Given the description of an element on the screen output the (x, y) to click on. 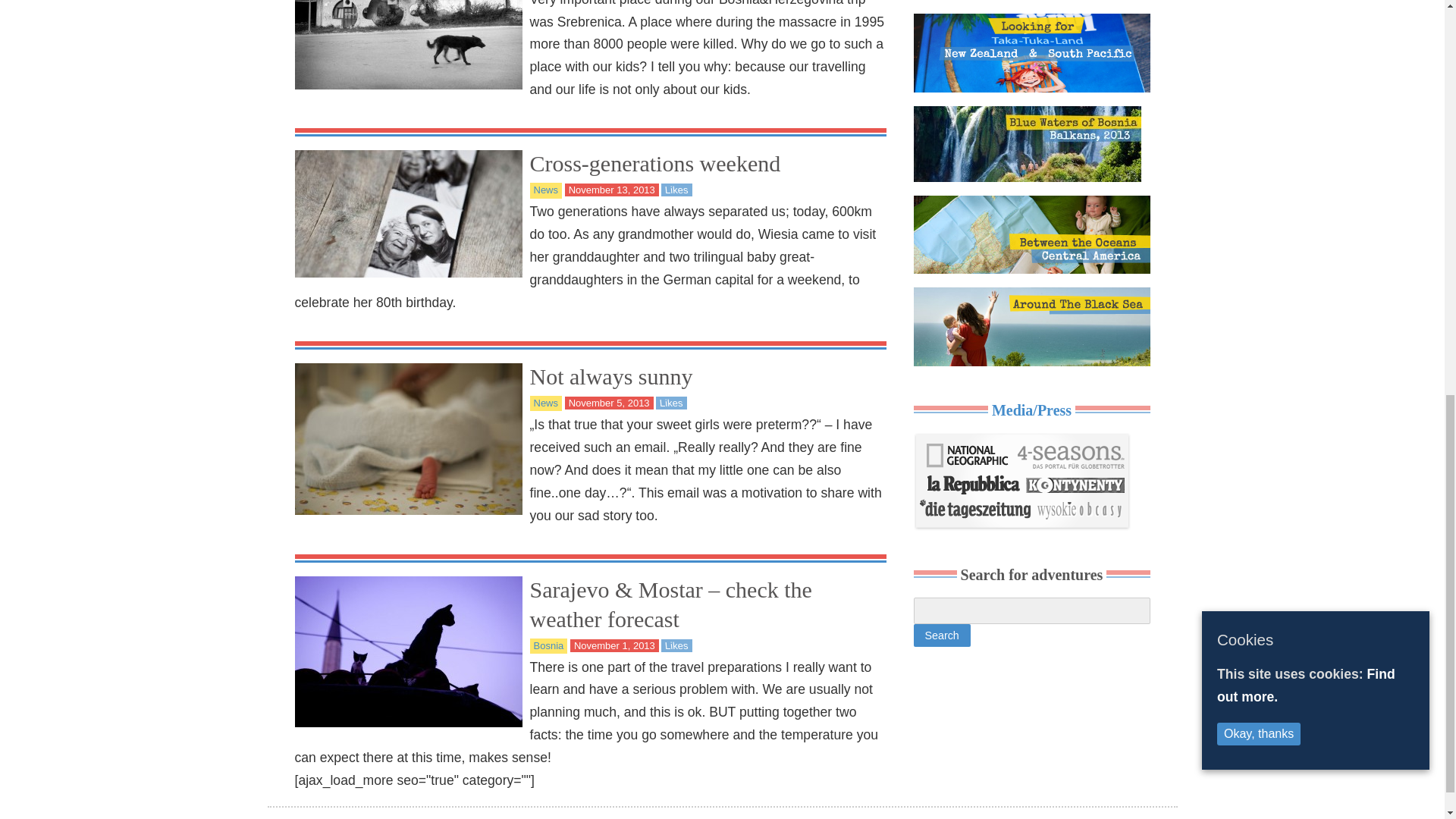
Search (940, 635)
